Given the description of an element on the screen output the (x, y) to click on. 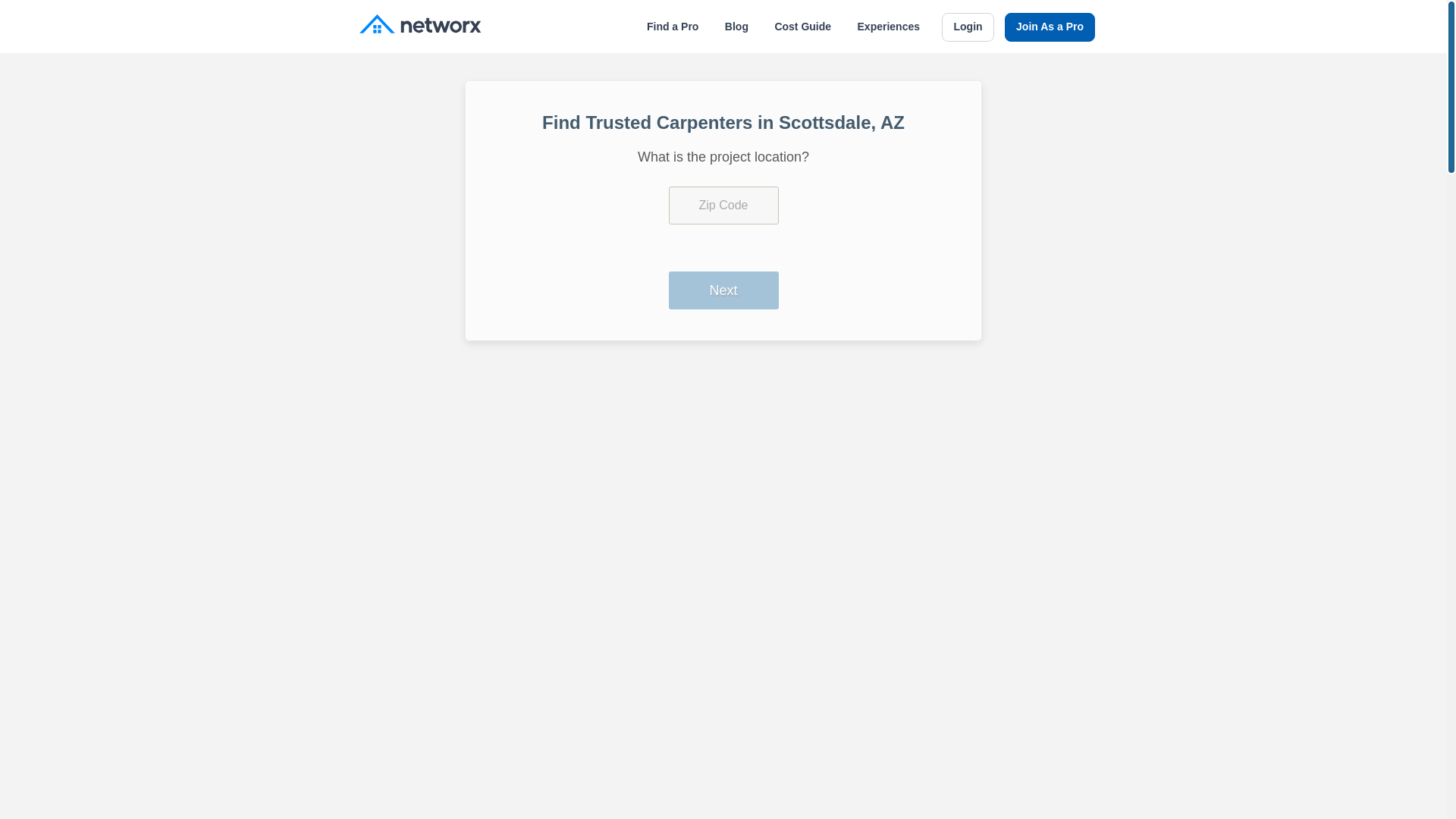
Next (723, 290)
Join As a Pro (1049, 27)
Cost Guide (802, 26)
Find a Pro (672, 26)
Experiences (888, 26)
Please enter a valid zip code (723, 205)
Networx (419, 25)
Login (967, 27)
